Given the description of an element on the screen output the (x, y) to click on. 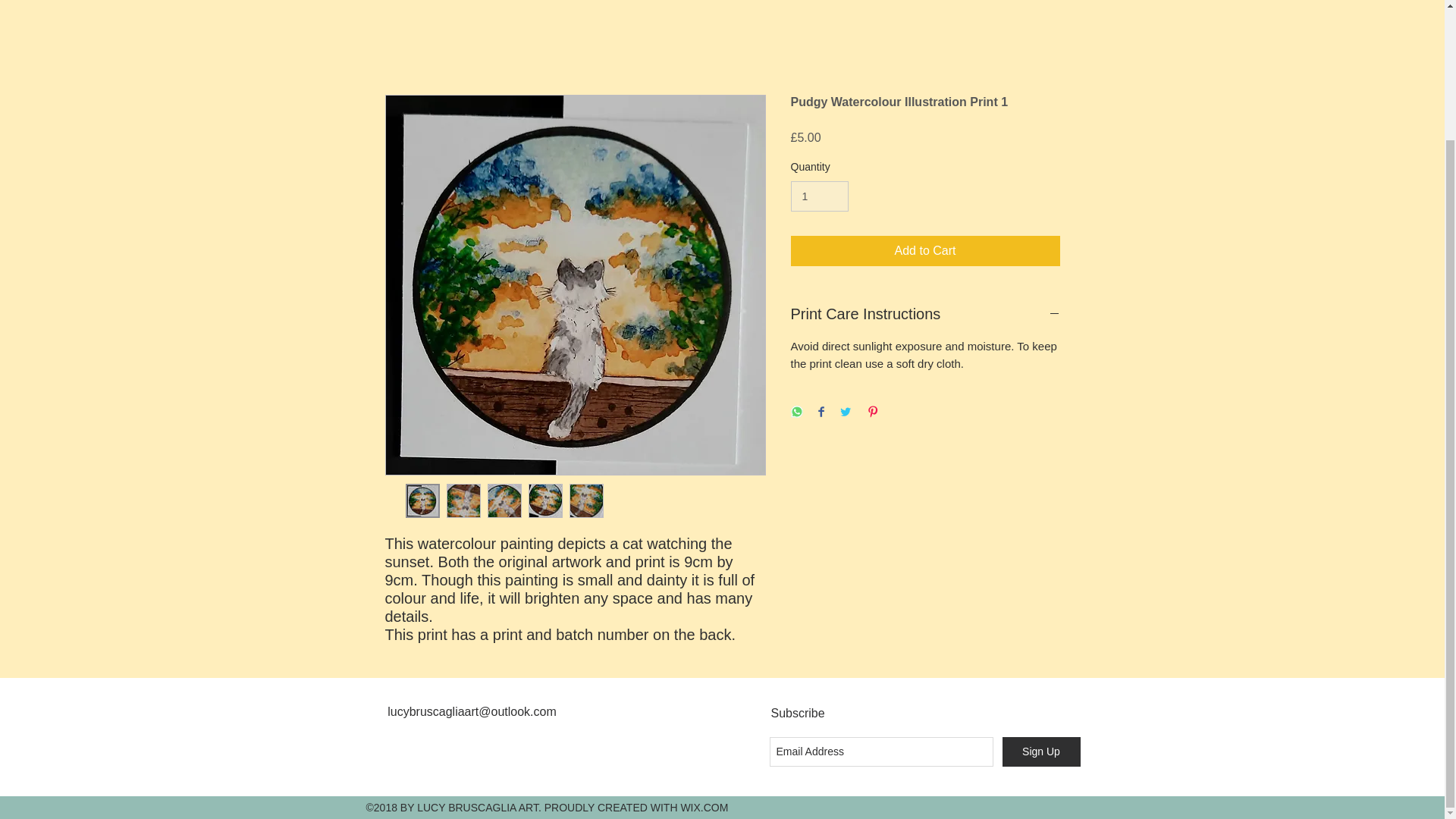
1 (818, 196)
Add to Cart (924, 250)
Sign Up (1041, 751)
Print Care Instructions (924, 313)
